Given the description of an element on the screen output the (x, y) to click on. 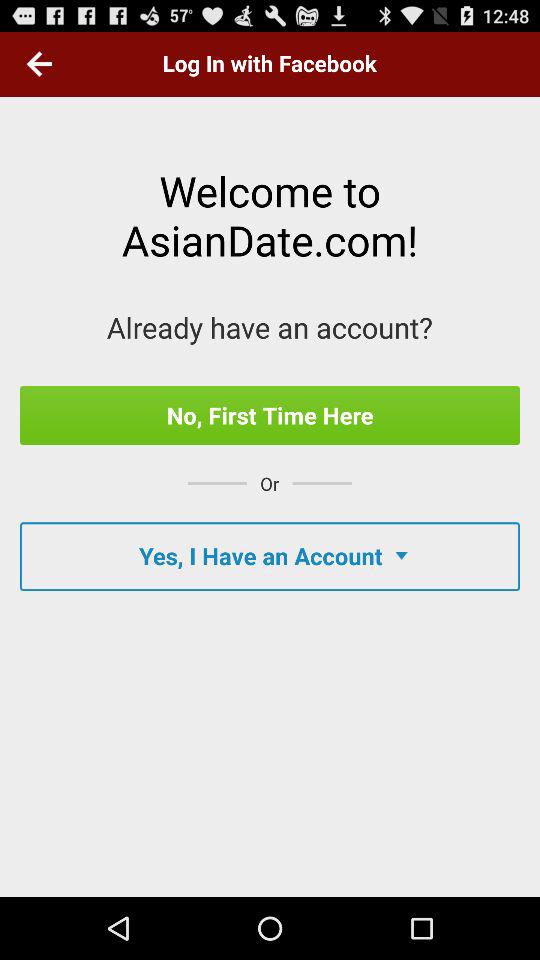
scroll to the no first time item (269, 415)
